Given the description of an element on the screen output the (x, y) to click on. 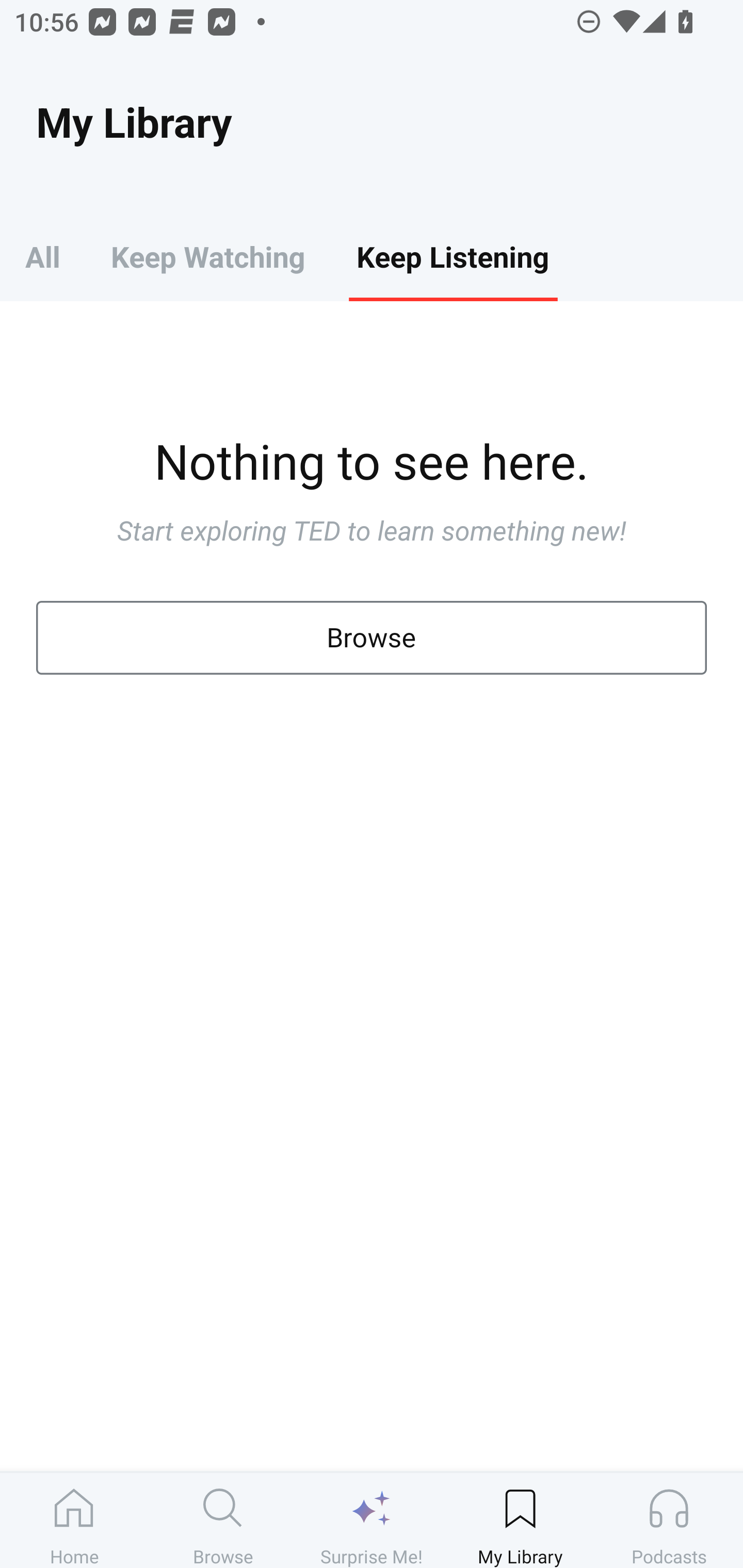
All (42, 256)
Keep Watching (207, 256)
Keep Listening (452, 256)
Browse (371, 637)
Home (74, 1520)
Browse (222, 1520)
Surprise Me! (371, 1520)
My Library (519, 1520)
Podcasts (668, 1520)
